Given the description of an element on the screen output the (x, y) to click on. 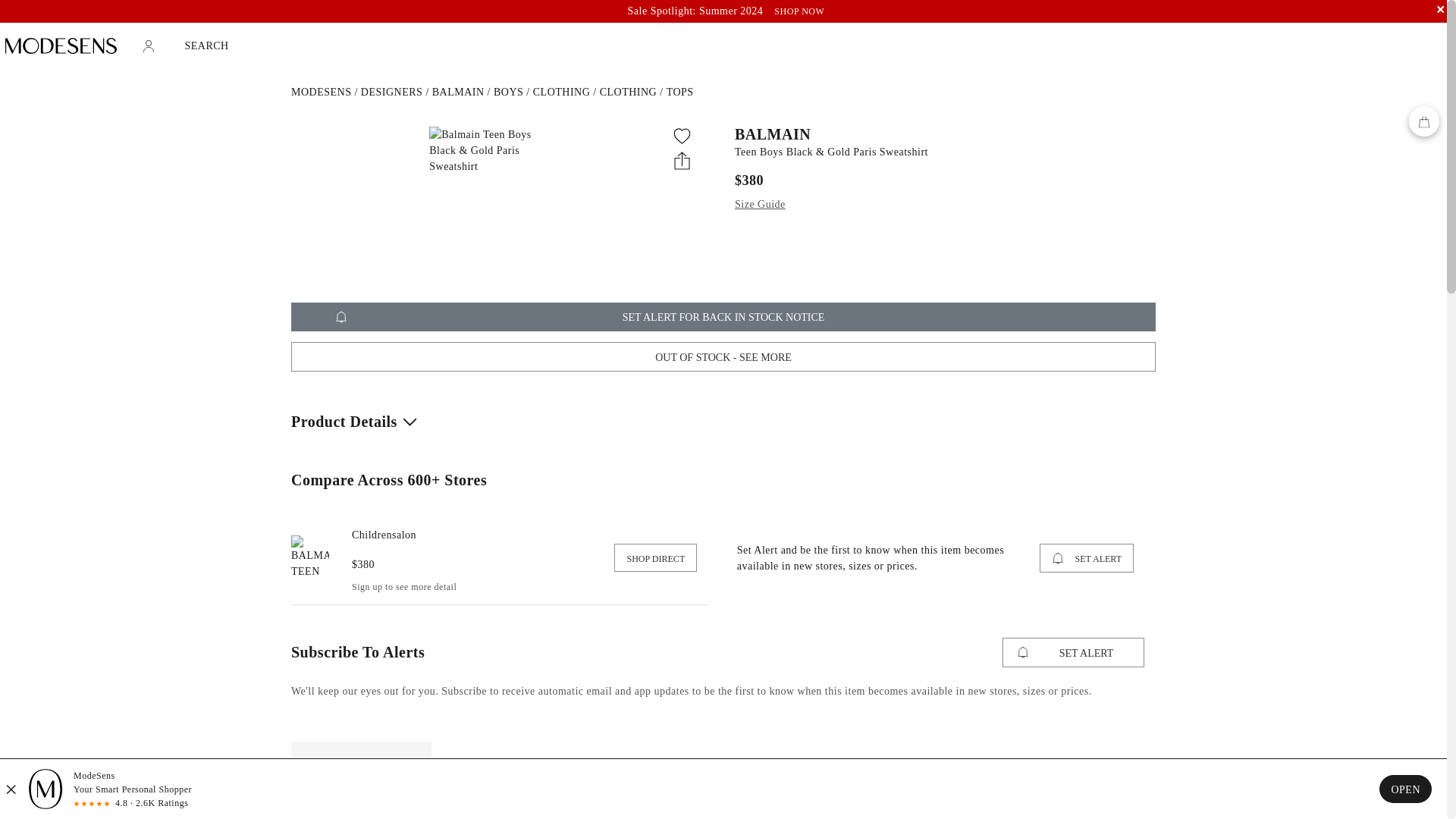
Balmain (458, 91)
BALMAIN (939, 133)
Balmain Boys (507, 91)
Buy from store's website (384, 534)
Add to shopping lists (681, 135)
Balmain Clothing for Boys (561, 91)
Balmain Clothing for Boys (628, 91)
Buy from store's website (310, 557)
OPEN (1404, 788)
ModeSens (320, 91)
Share with Friends (681, 159)
Designers (392, 91)
Buy from store's website (655, 557)
Balmain Tops for Boys (680, 91)
